Given the description of an element on the screen output the (x, y) to click on. 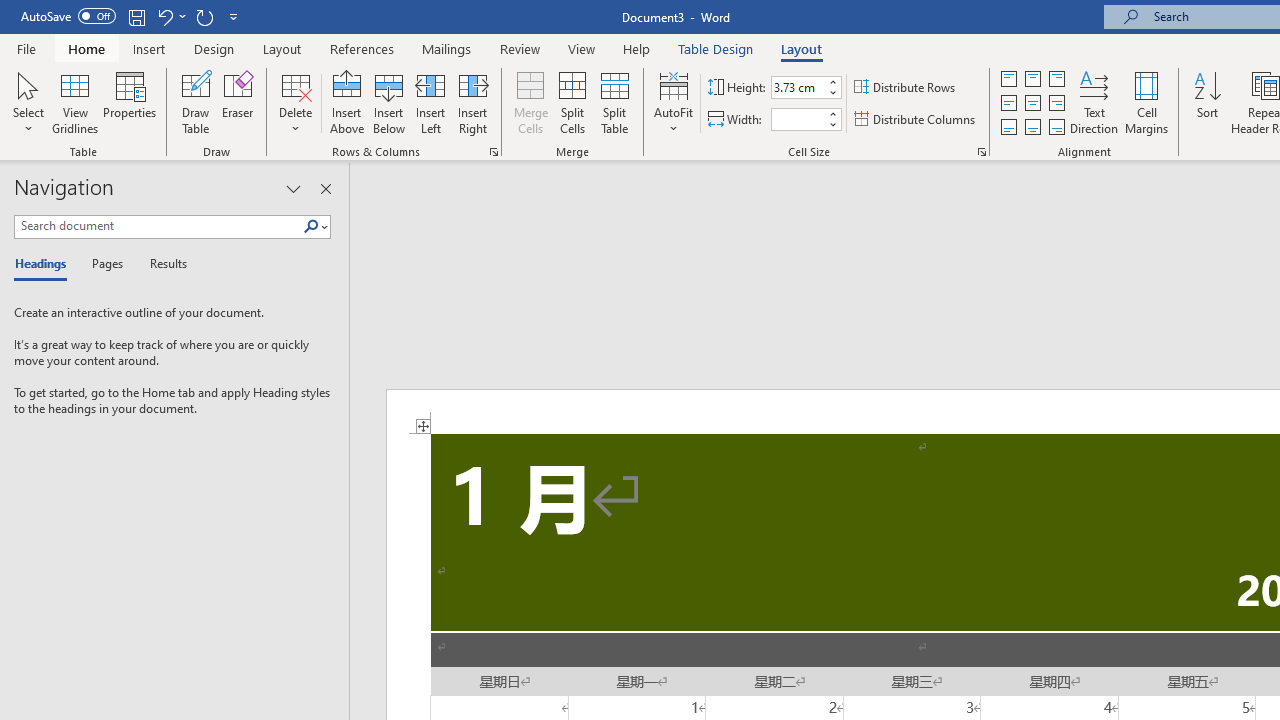
Cell Margins... (1146, 102)
Align Top Center (1032, 78)
Align Bottom Justified (1009, 126)
Distribute Rows (906, 87)
Table Column Width (797, 119)
Split Table (614, 102)
Align Center Justified (1009, 103)
Align Top Justified (1009, 78)
